Given the description of an element on the screen output the (x, y) to click on. 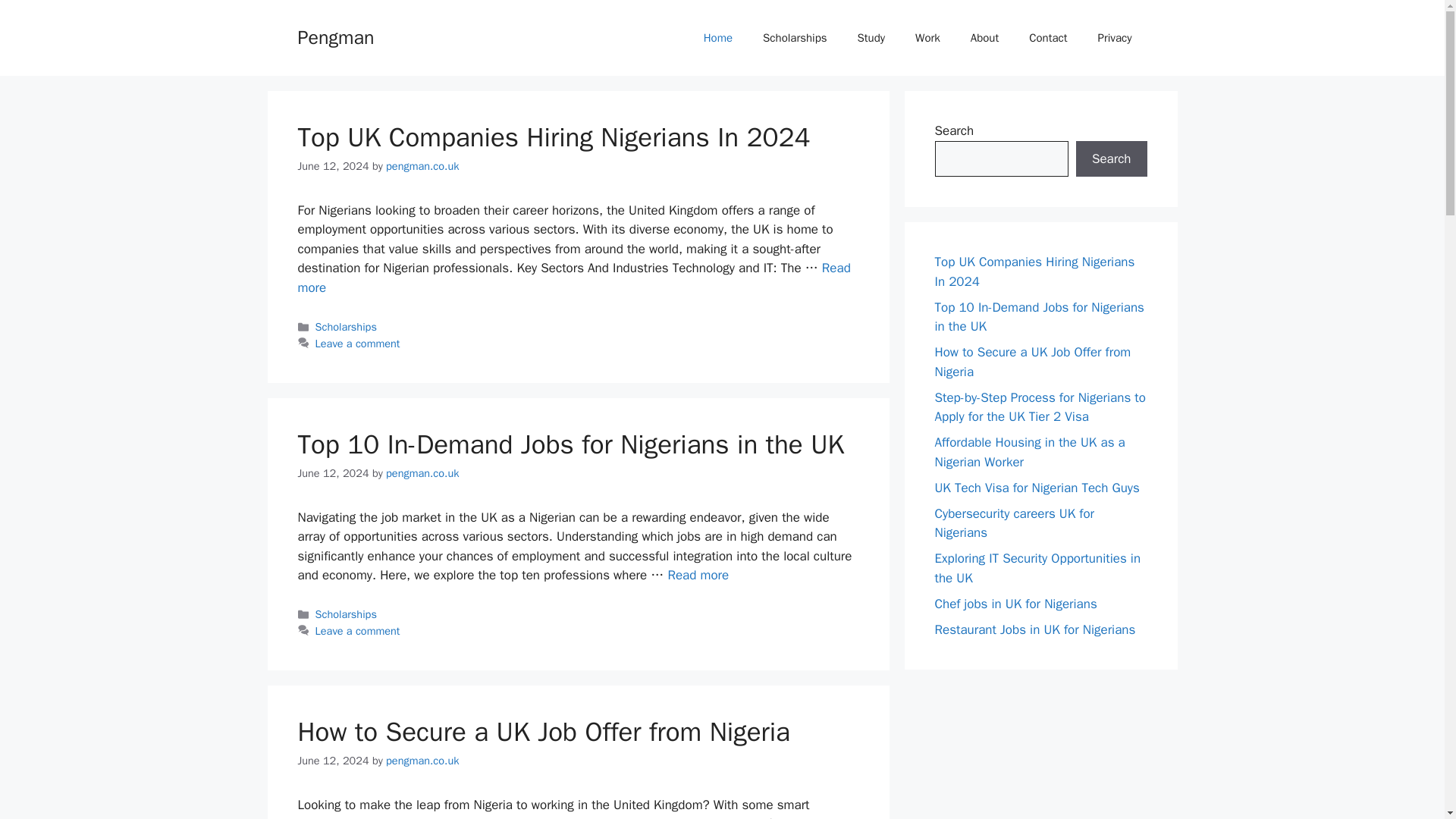
Privacy (1115, 37)
Read more (697, 575)
About (984, 37)
View all posts by pengman.co.uk (421, 165)
Home (718, 37)
Top UK Companies Hiring Nigerians In 2024 (553, 136)
pengman.co.uk (421, 165)
How to Secure a UK Job Offer from Nigeria (543, 731)
Pengman (335, 37)
Contact (1047, 37)
Top UK Companies Hiring Nigerians In 2024 (573, 277)
Leave a comment (357, 631)
View all posts by pengman.co.uk (421, 760)
pengman.co.uk (421, 472)
View all posts by pengman.co.uk (421, 472)
